Given the description of an element on the screen output the (x, y) to click on. 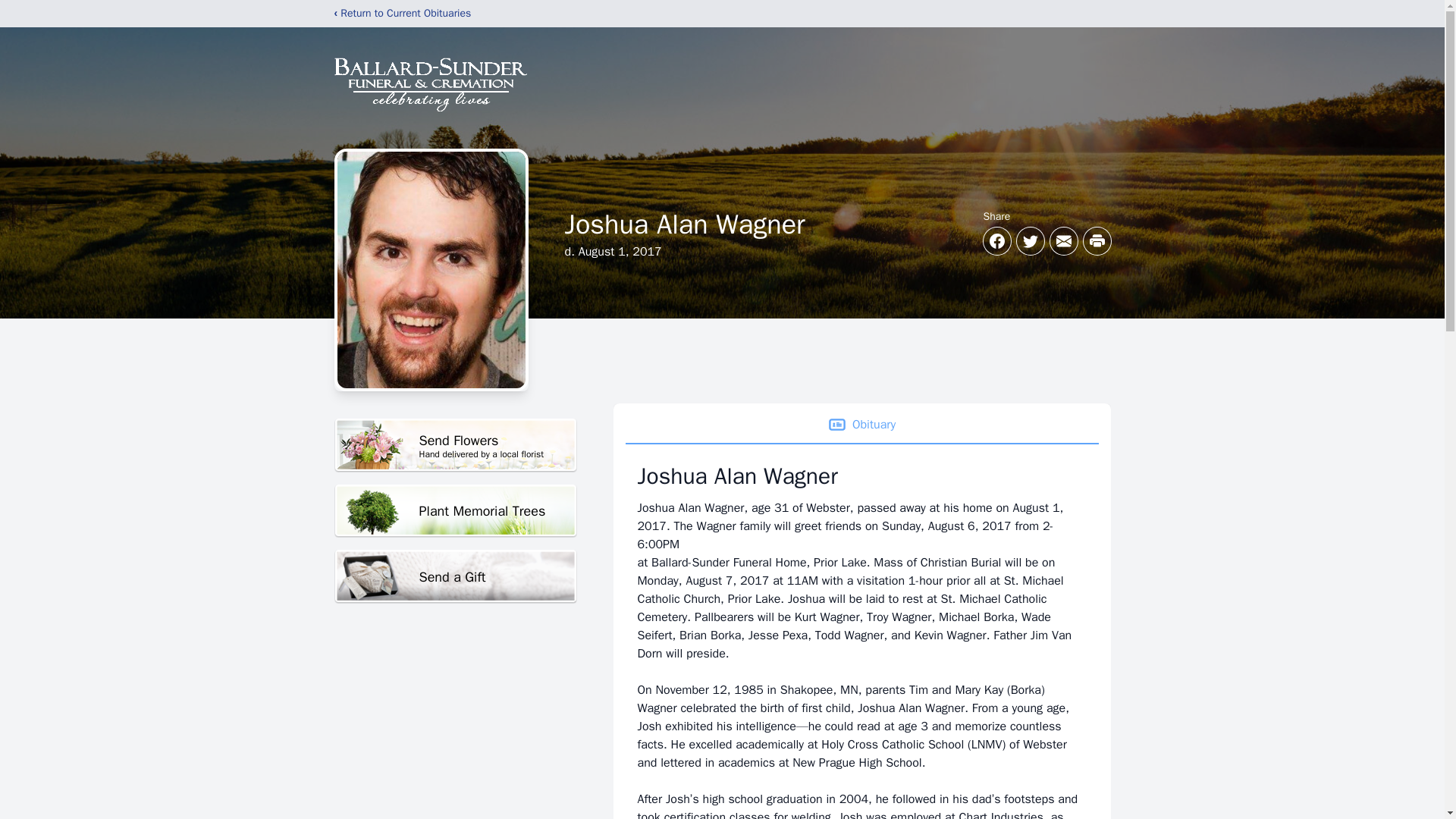
Obituary (860, 425)
Plant Memorial Trees (454, 445)
Send a Gift (454, 511)
